Given the description of an element on the screen output the (x, y) to click on. 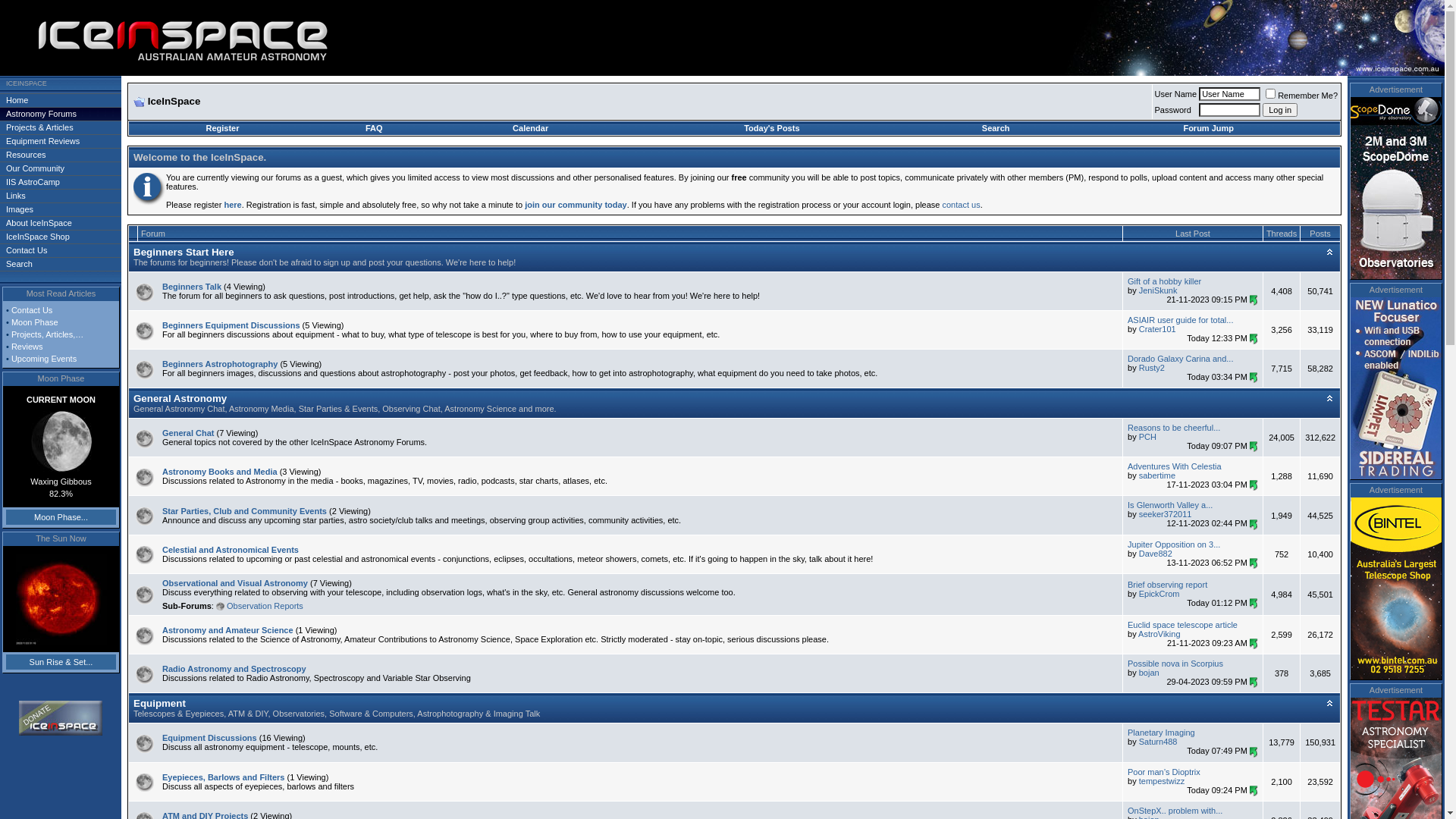
Moon Phase... Element type: text (60, 516)
Observation Reports Element type: text (264, 605)
here Element type: text (232, 204)
join our community today Element type: text (575, 204)
Contact Us Element type: text (60, 250)
IceInSpace Australian Amateur Astronomy Element type: hover (219, 42)
IceInSpace Shop Element type: text (60, 236)
Today's Posts Element type: text (771, 127)
Bintel Element type: hover (1395, 588)
Observational and Visual Astronomy Element type: text (234, 582)
Search Element type: text (60, 263)
Is Glenworth Valley a... Element type: text (1169, 504)
AstroViking Element type: text (1158, 633)
Beginners Start Here Element type: text (183, 251)
PCH Element type: text (1147, 436)
Go to last post Element type: hover (1253, 682)
Saturn488 Element type: text (1158, 741)
Rusty2 Element type: text (1151, 367)
Go to last post Element type: hover (1253, 643)
Calendar Element type: text (530, 127)
Reasons to be cheerful... Element type: text (1173, 427)
Reviews Element type: text (27, 346)
Beginners Equipment Discussions Element type: text (231, 324)
ScopeDome Australia Element type: hover (1395, 188)
Jupiter Opposition on 3... Element type: text (1173, 544)
Projects & Articles Element type: text (60, 127)
Go to last post Element type: hover (1253, 790)
Images Element type: text (60, 209)
FAQ Element type: text (373, 127)
Links Element type: text (60, 195)
Moon Phase Element type: text (34, 321)
bojan Element type: text (1149, 672)
Upcoming Events Element type: text (43, 358)
OnStepX.. problem with... Element type: text (1174, 810)
Search Element type: text (996, 127)
Go to last post Element type: hover (1253, 299)
Dave882 Element type: text (1155, 553)
Forum Jump Element type: text (1208, 127)
Gift of a hobby killer Element type: text (1164, 280)
contact us Element type: text (960, 204)
Sun Rise & Set... Element type: text (61, 661)
Possible nova in Scorpius Element type: text (1175, 663)
Latest SOHO Image Element type: hover (60, 598)
Go to last post Element type: hover (1253, 563)
Go to last post Element type: hover (1253, 524)
Home Element type: text (60, 99)
Contact Us Element type: text (31, 309)
Equipment Reviews Element type: text (60, 140)
General Chat Element type: text (187, 432)
Beginners Astrophotography Element type: text (219, 363)
JeniSkunk Element type: text (1158, 289)
Astronomy and Amateur Science Element type: text (227, 629)
Brief observing report Element type: text (1167, 584)
Log in Element type: text (1279, 109)
Eyepieces, Barlows and Filters Element type: text (223, 776)
Beginners Talk Element type: text (191, 286)
Dorado Galaxy Carina and... Element type: text (1180, 358)
Register Element type: text (221, 127)
Go to last post Element type: hover (1253, 338)
Planetary Imaging Element type: text (1161, 732)
General Astronomy Element type: text (179, 398)
Go to last post Element type: hover (1253, 485)
Euclid space telescope article Element type: text (1182, 624)
tempestwizz Element type: text (1162, 780)
Adventures With Celestia Element type: text (1174, 465)
Astronomy Forums Element type: text (60, 113)
Limpet Controller Element type: hover (1395, 388)
Radio Astronomy and Spectroscopy Element type: text (234, 668)
EpickCrom Element type: text (1159, 593)
seeker372011 Element type: text (1165, 513)
Astronomy Books and Media Element type: text (219, 471)
Equipment Discussions Element type: text (209, 737)
About IceInSpace Element type: text (60, 222)
Celestial and Astronomical Events Element type: text (230, 549)
Crater101 Element type: text (1157, 328)
Go to last post Element type: hover (1253, 446)
Star Parties, Club and Community Events Element type: text (244, 510)
Equipment Element type: text (159, 703)
ASIAIR user guide for total... Element type: text (1180, 319)
sabertime Element type: text (1157, 475)
Go to last post Element type: hover (1253, 751)
Go to last post Element type: hover (1253, 377)
IIS AstroCamp Element type: text (60, 181)
Go to last post Element type: hover (1253, 603)
Current Moon Phase Element type: hover (60, 441)
Our Community Element type: text (60, 168)
Resources Element type: text (60, 154)
